Given the description of an element on the screen output the (x, y) to click on. 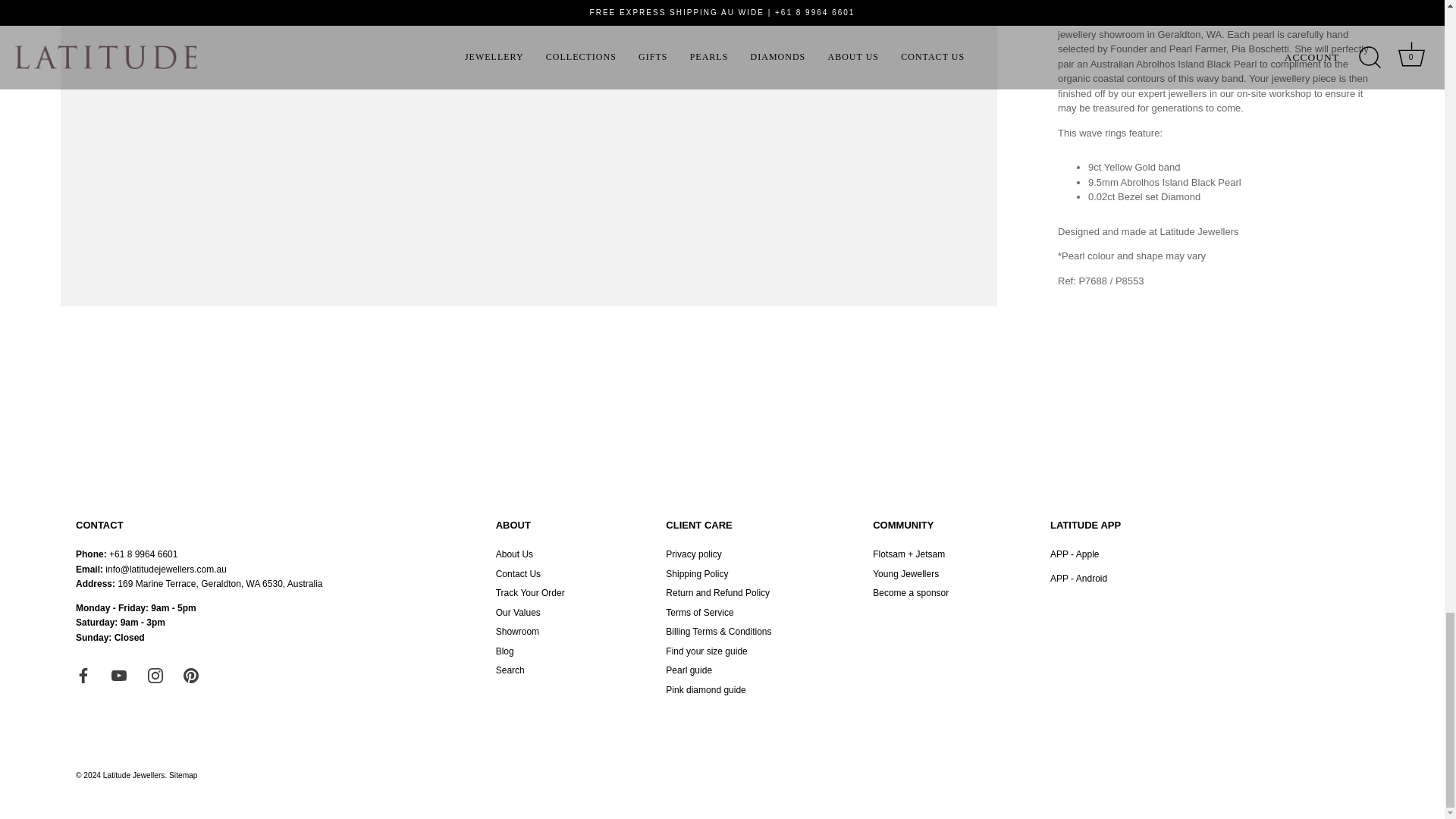
Youtube (119, 675)
Pinterest (190, 675)
Instagram (155, 675)
